Given the description of an element on the screen output the (x, y) to click on. 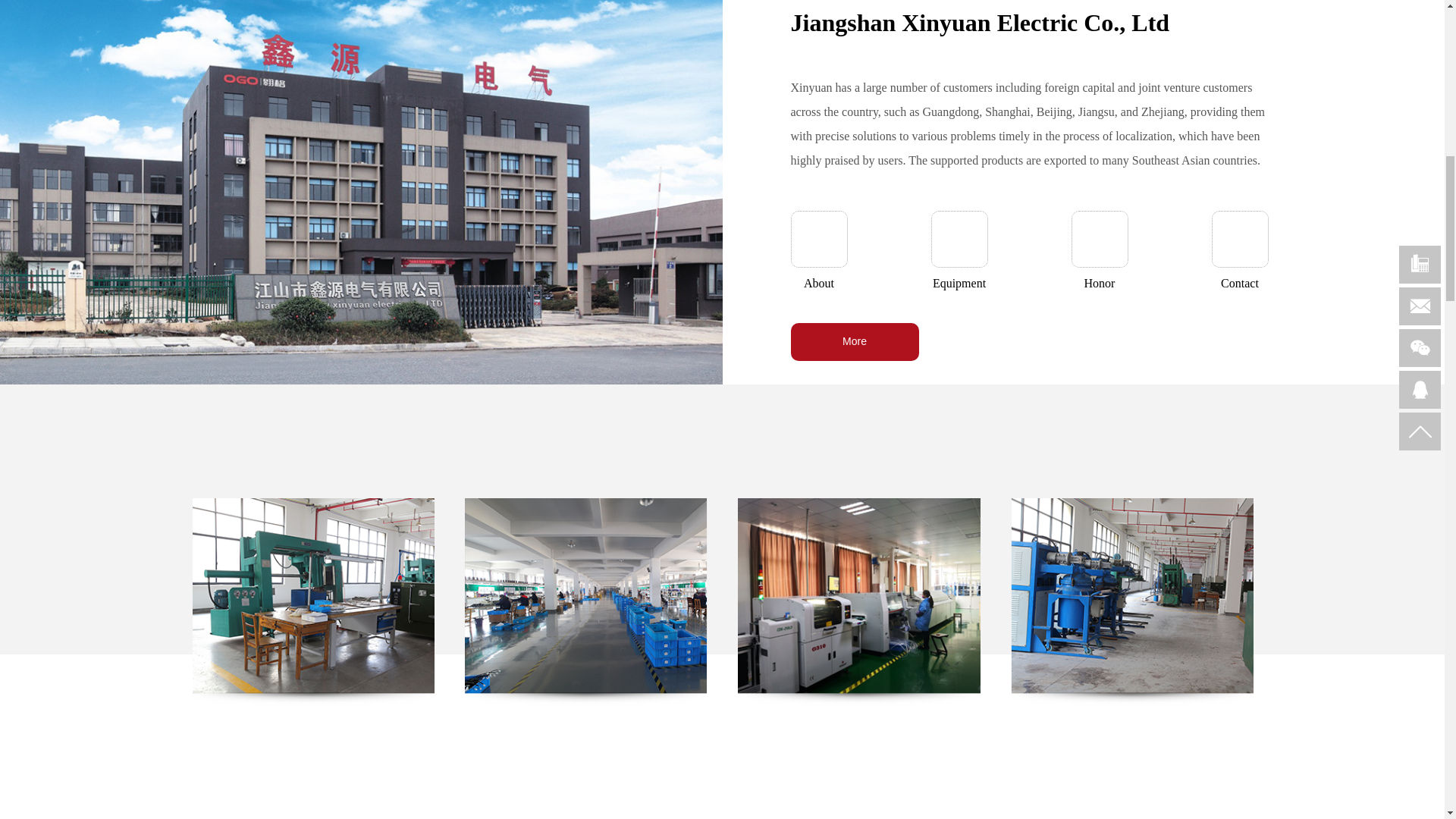
Jiangshan Xinyuan Electric Co., Ltd. (1131, 603)
Jiangshan Xinyuan Electric Co., Ltd. (585, 603)
Jiangshan Xinyuan Electric Co., Ltd. (311, 603)
Jiangshan Xinyuan Electric Co., Ltd. (857, 603)
